Given the description of an element on the screen output the (x, y) to click on. 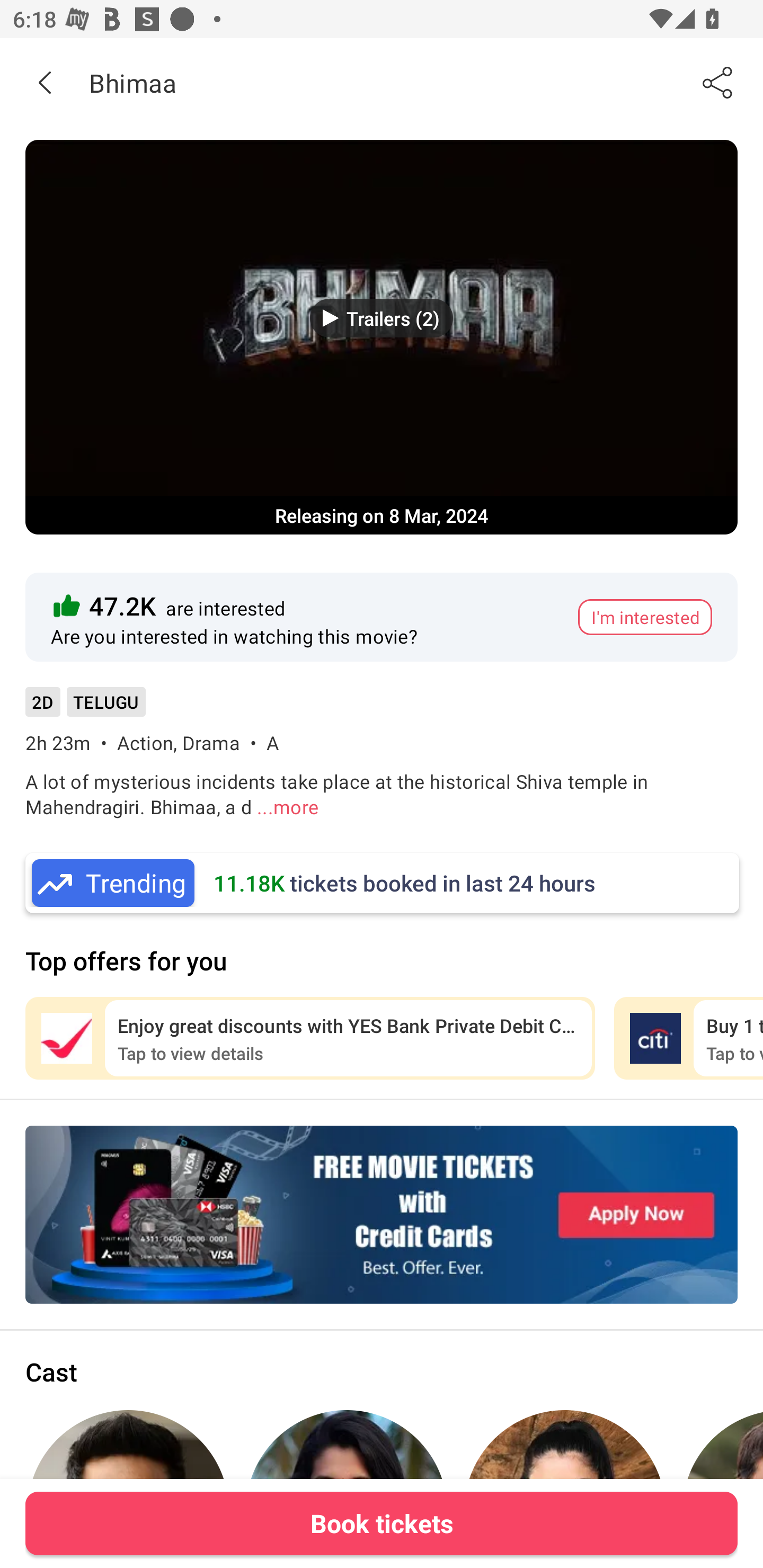
Back (44, 82)
Share (718, 82)
Movie Banner Trailers (2) Releasing on 8 Mar, 2024 (381, 336)
Trailers (2) (381, 318)
I'm interested (644, 616)
2D TELUGU (85, 707)
Book tickets (381, 1523)
